Given the description of an element on the screen output the (x, y) to click on. 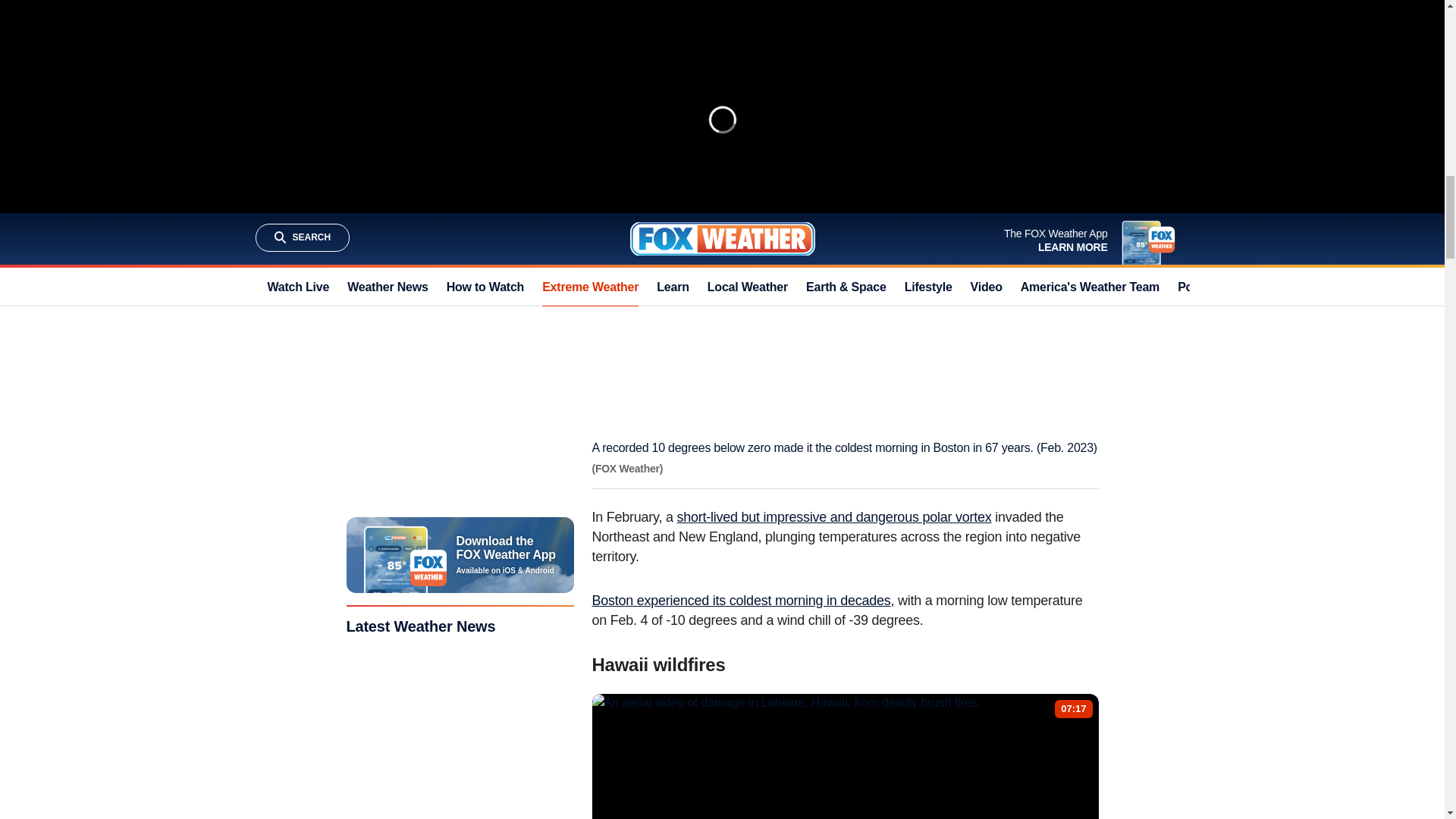
Boston experienced its coldest morning in decades (740, 600)
heat wave (689, 51)
winter weather (634, 70)
short-lived but impressive and dangerous polar vortex (834, 516)
07:17 (1073, 708)
